Given the description of an element on the screen output the (x, y) to click on. 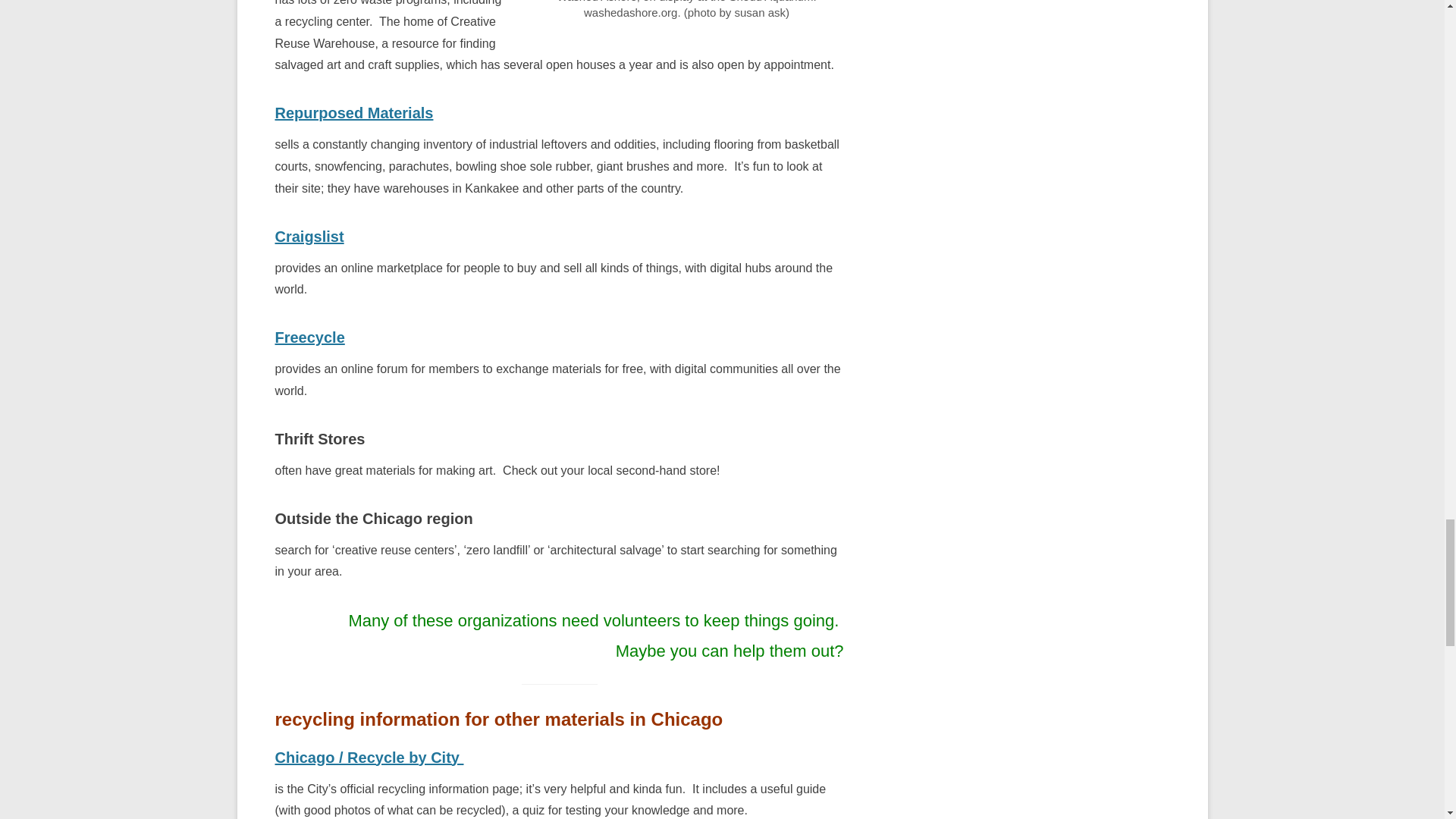
Freecycle (309, 337)
Craigslist (309, 236)
Repurposed Materials (353, 112)
